Given the description of an element on the screen output the (x, y) to click on. 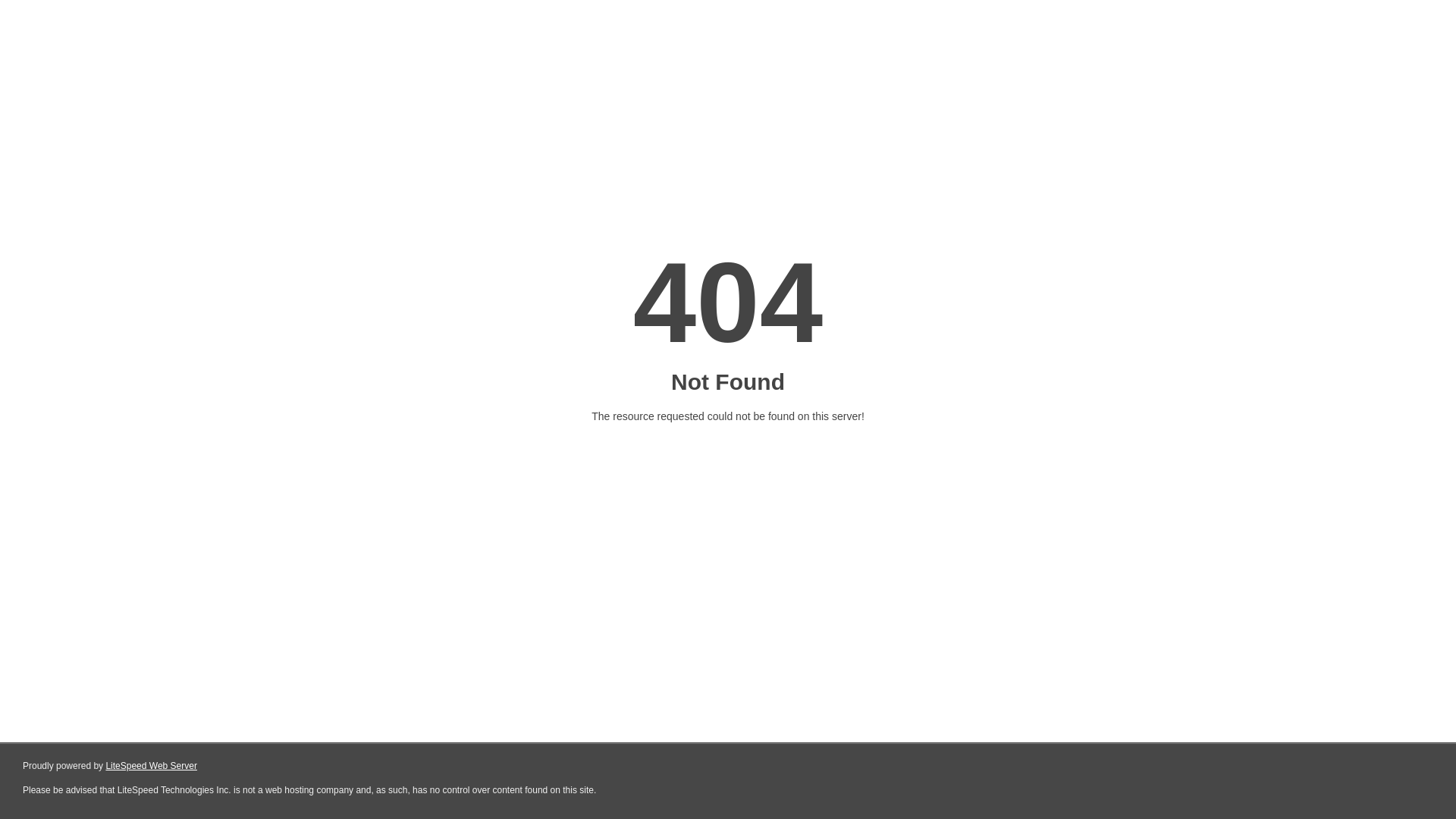
LiteSpeed Web Server Element type: text (151, 765)
